Given the description of an element on the screen output the (x, y) to click on. 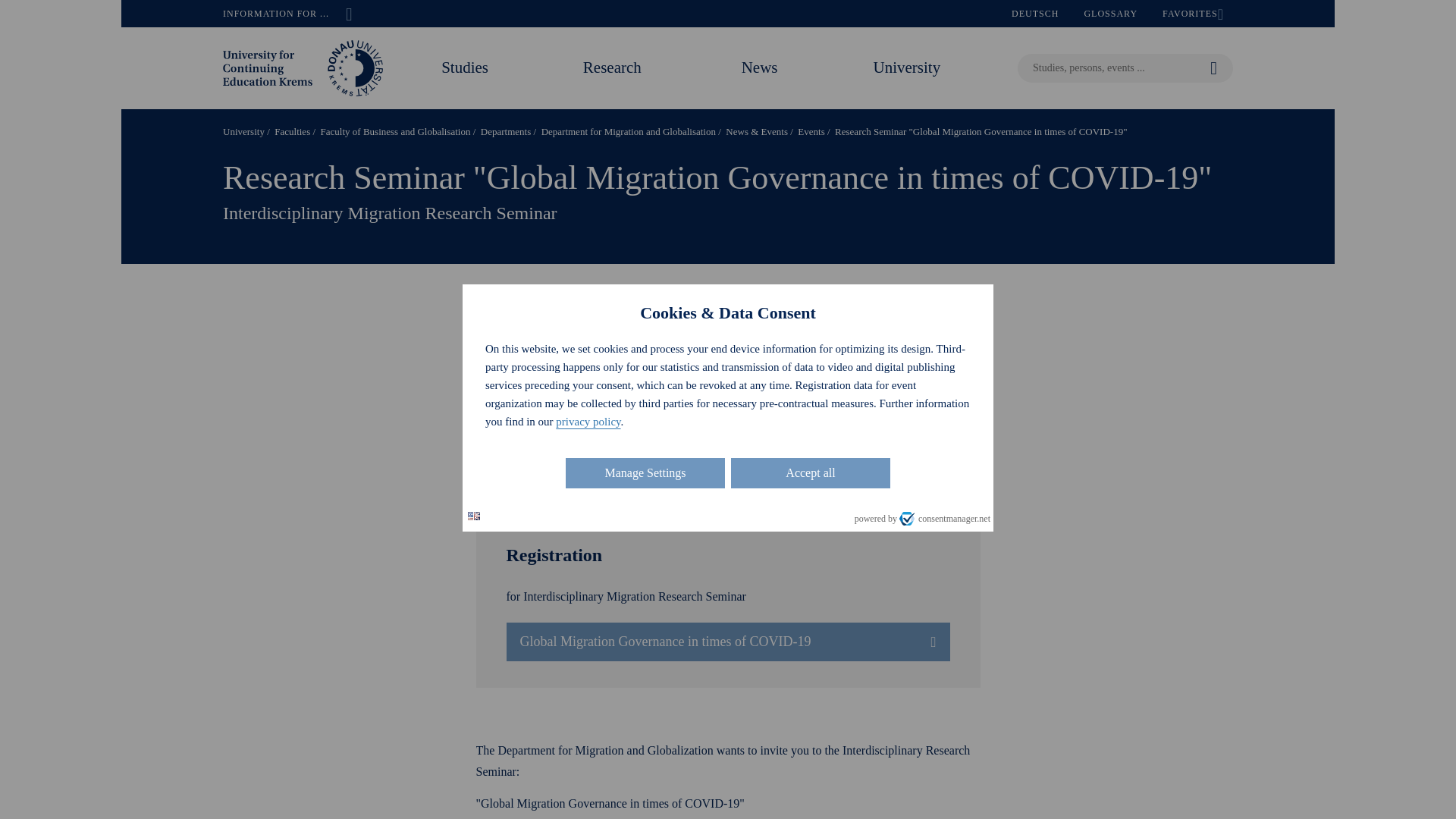
privacy policy (588, 421)
Studies (464, 67)
consentmanager.net (944, 518)
Language: en (473, 515)
Privacy Policy (727, 506)
INFORMATION FOR ... (286, 13)
Language: en (473, 515)
Manage Settings (645, 472)
GLOSSARY (1109, 13)
University for Continuing Education Krems (303, 66)
DEUTSCH (1035, 13)
Accept all (809, 472)
